Given the description of an element on the screen output the (x, y) to click on. 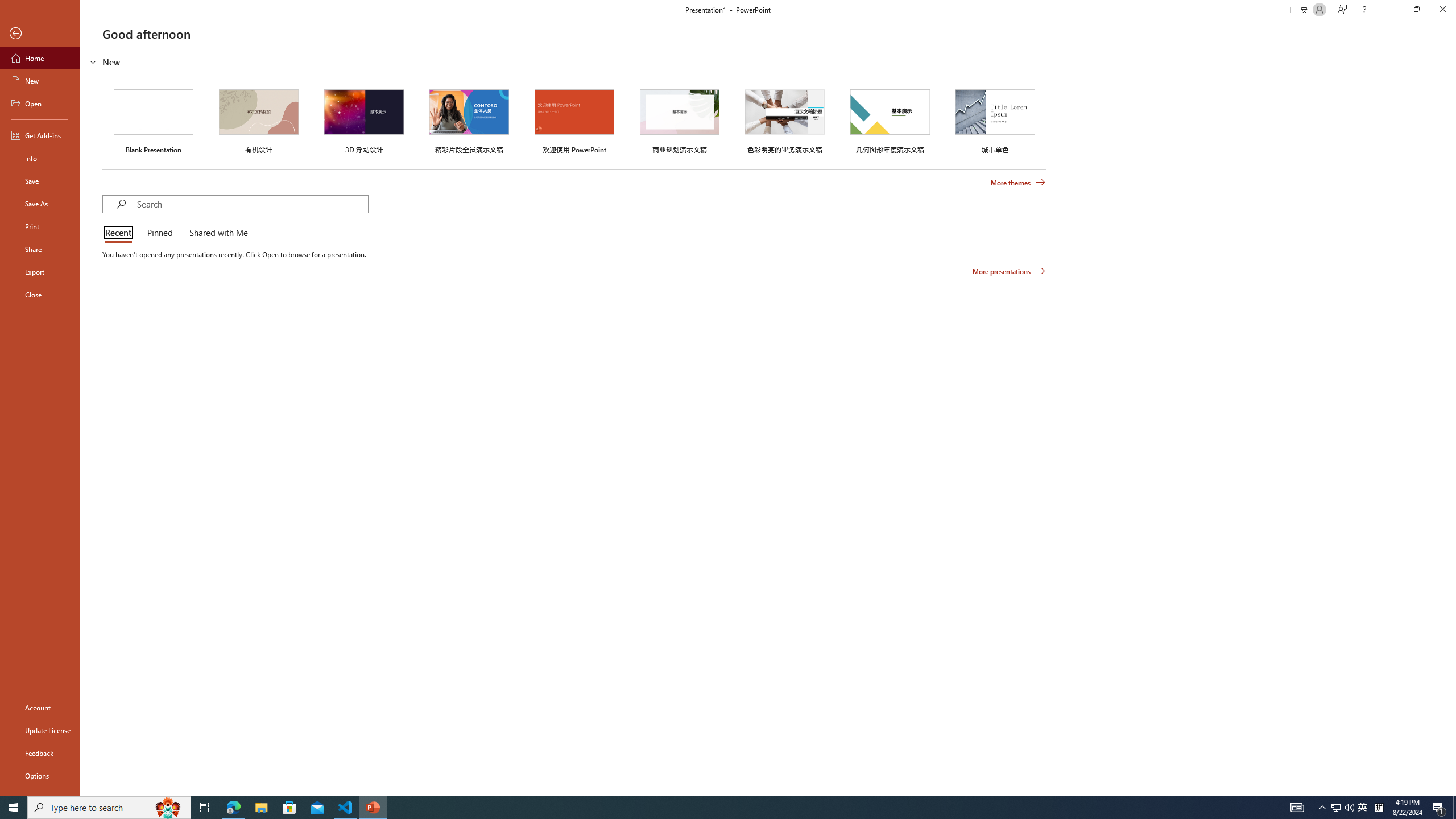
Options (40, 775)
Open (40, 102)
Minimize (1390, 9)
Save As (40, 203)
More themes (1018, 182)
Pinned (159, 233)
Recent (119, 233)
